Given the description of an element on the screen output the (x, y) to click on. 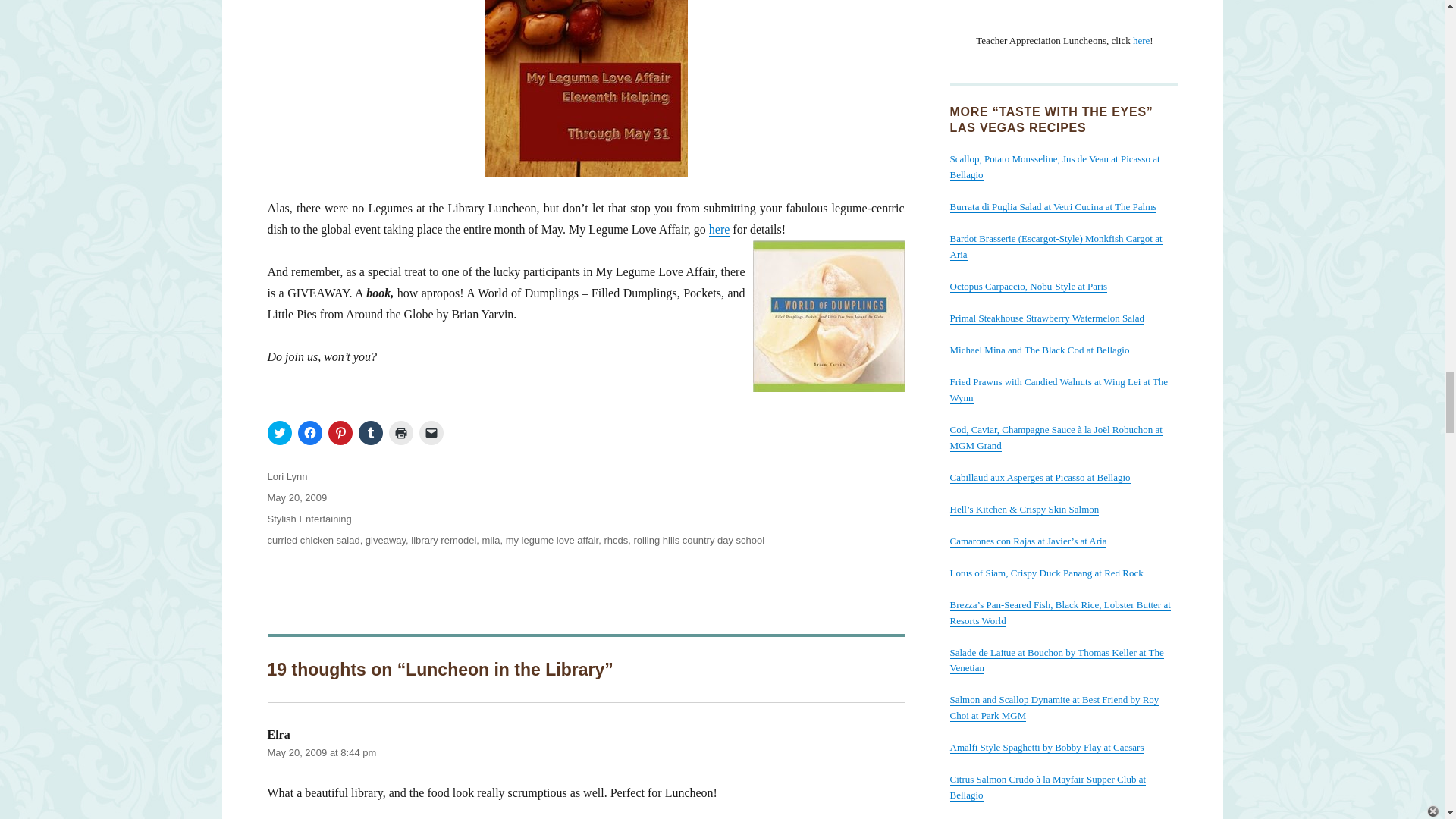
Click to print (400, 432)
Click to email a link to a friend (430, 432)
Lori Lynn (286, 476)
Click to share on Tumblr (369, 432)
here (719, 228)
Click to share on Twitter (278, 432)
Click to share on Facebook (309, 432)
Click to share on Pinterest (339, 432)
